Given the description of an element on the screen output the (x, y) to click on. 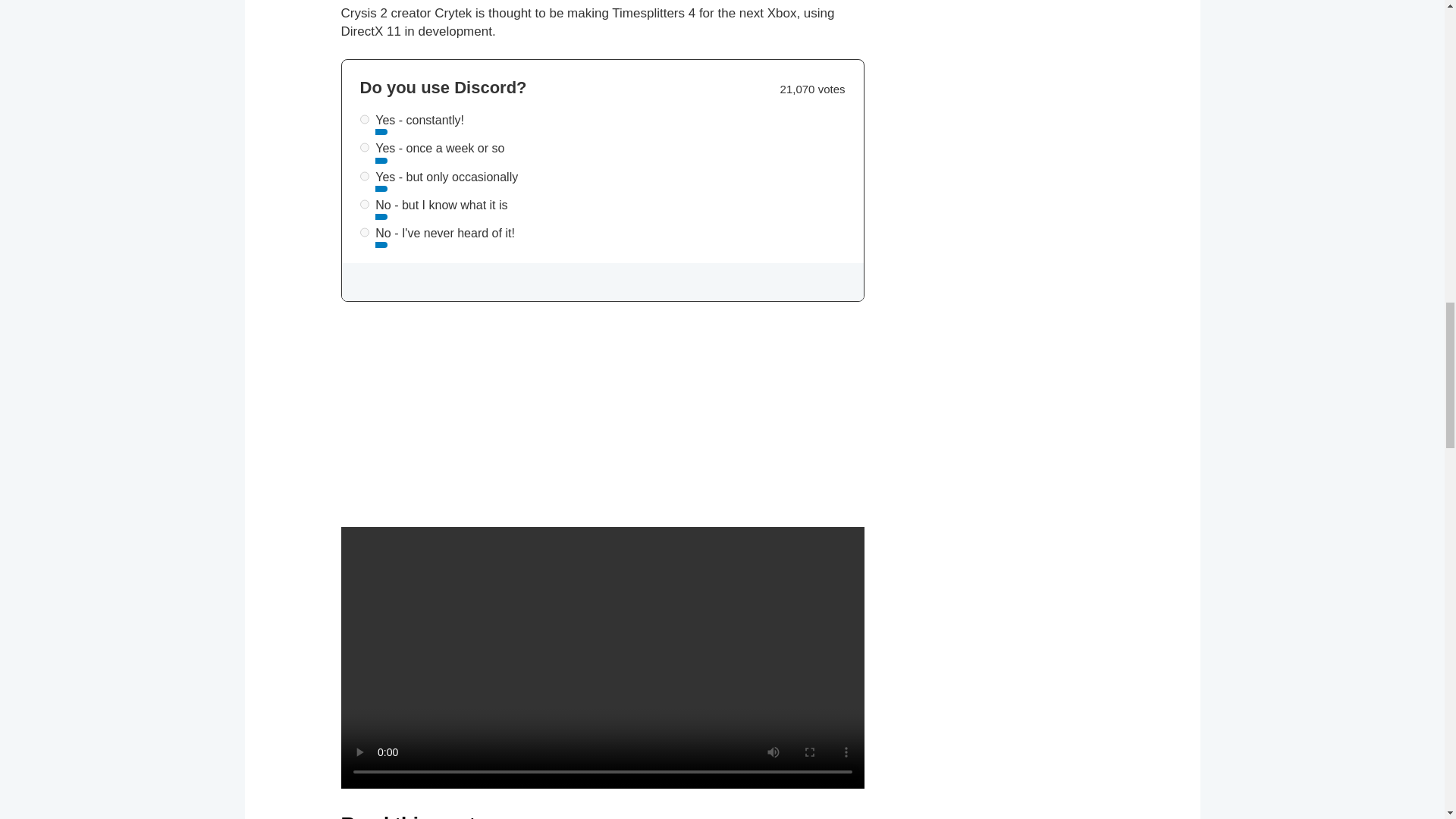
on (364, 175)
on (364, 204)
on (364, 147)
on (364, 119)
on (364, 232)
